Given the description of an element on the screen output the (x, y) to click on. 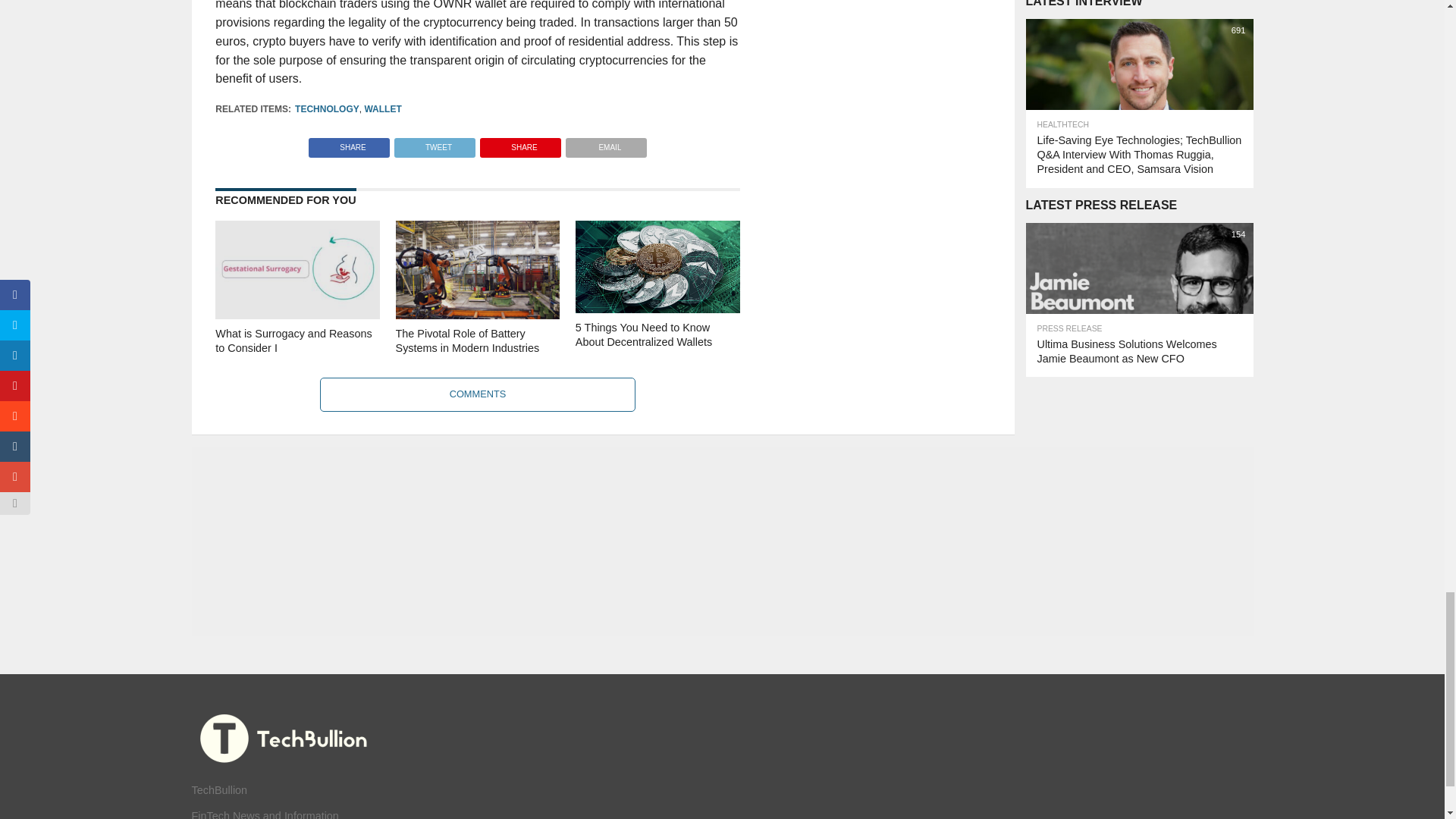
What is Surrogacy and Reasons to Consider I (297, 314)
The Pivotal Role of Battery Systems in Modern Industries (478, 314)
Share on Facebook (349, 143)
Pin This Post (520, 143)
Tweet This Post (434, 143)
